Given the description of an element on the screen output the (x, y) to click on. 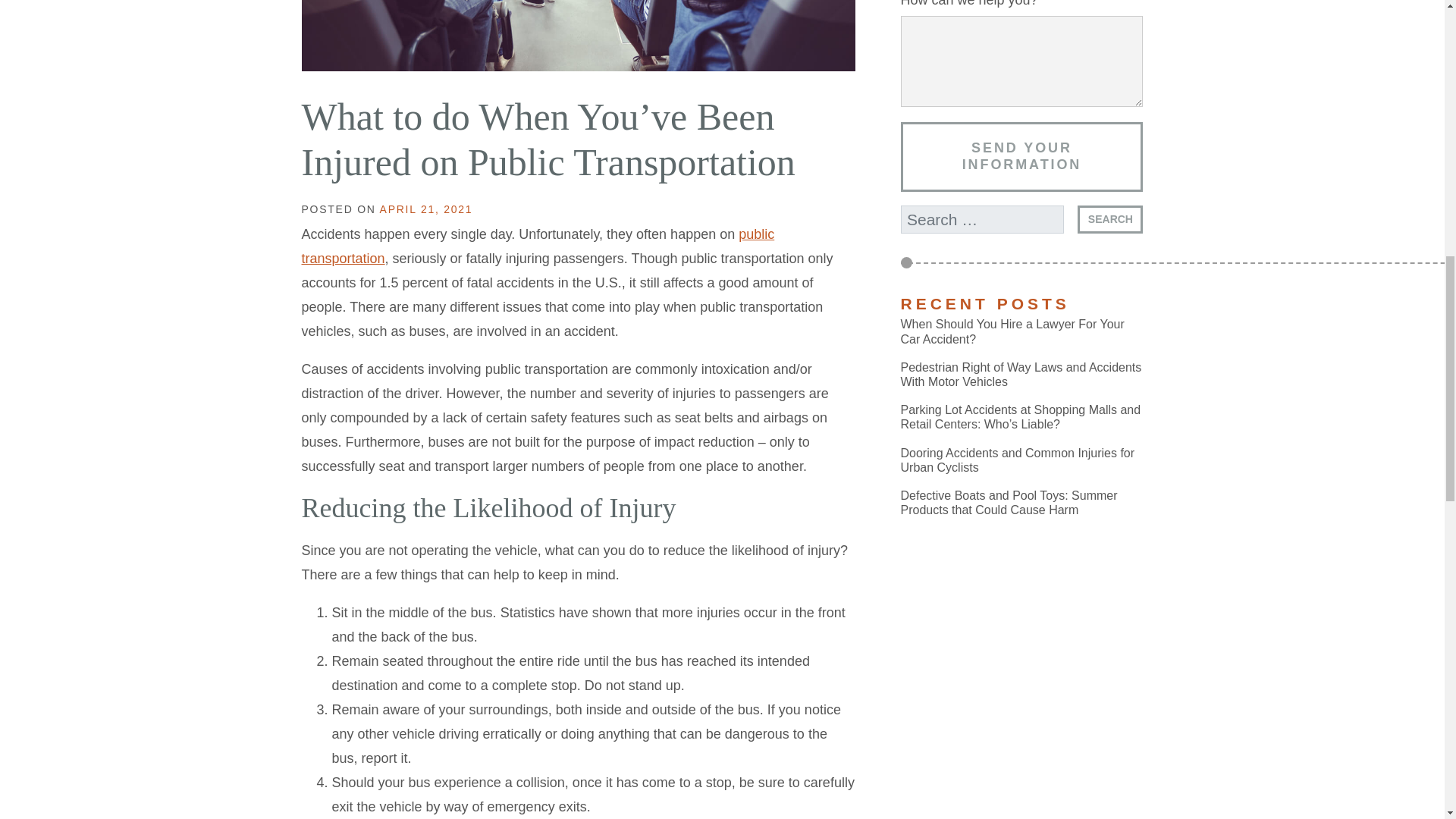
Search for: (982, 219)
Search (1109, 219)
Search (1109, 219)
